Given the description of an element on the screen output the (x, y) to click on. 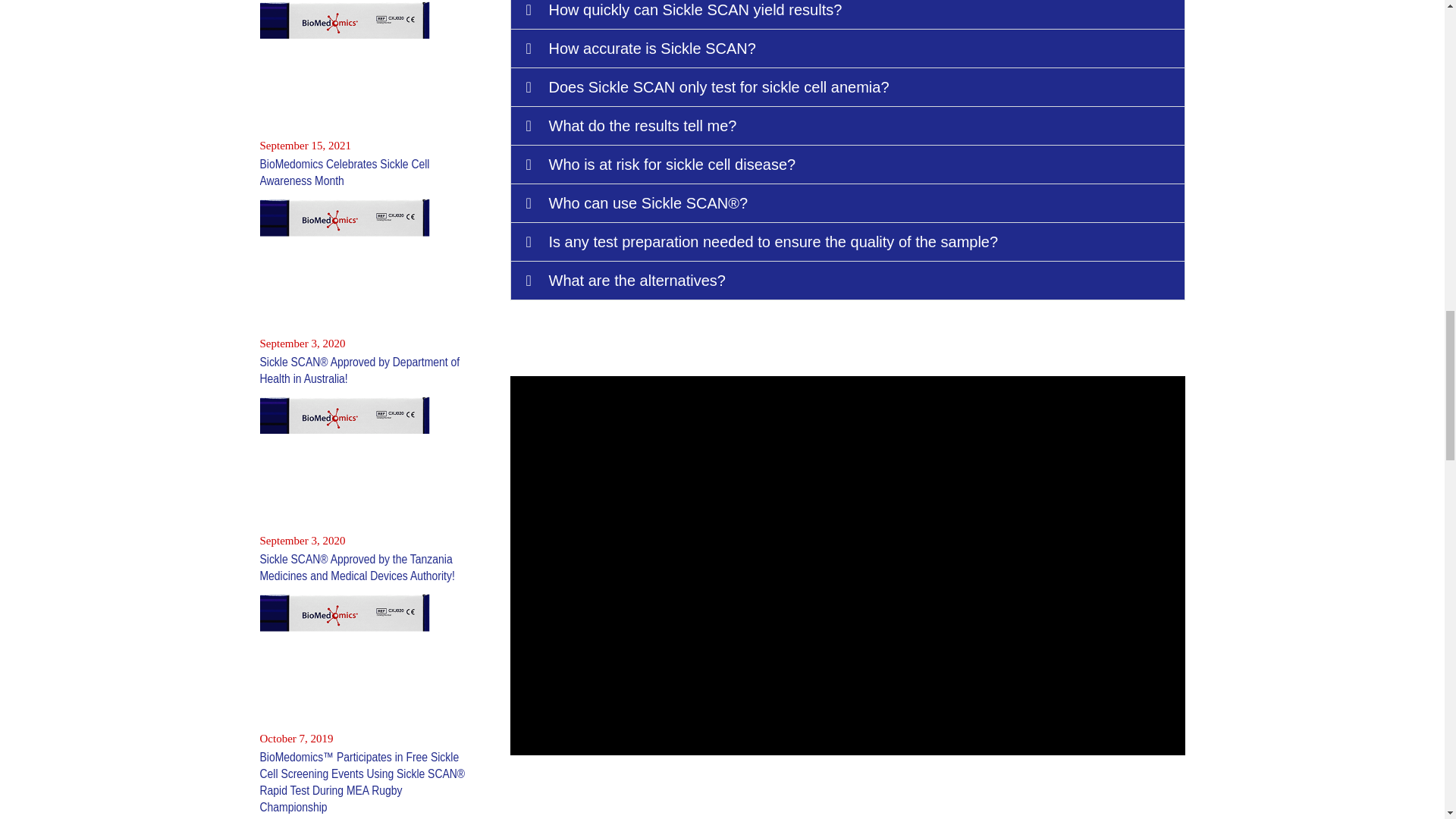
Does Sickle SCAN only test for sickle cell anemia? (718, 86)
Who is at risk for sickle cell disease? (672, 164)
How accurate is Sickle SCAN? (651, 48)
What are the alternatives? (636, 280)
How quickly can Sickle SCAN yield results? (695, 9)
What do the results tell me? (642, 125)
